Given the description of an element on the screen output the (x, y) to click on. 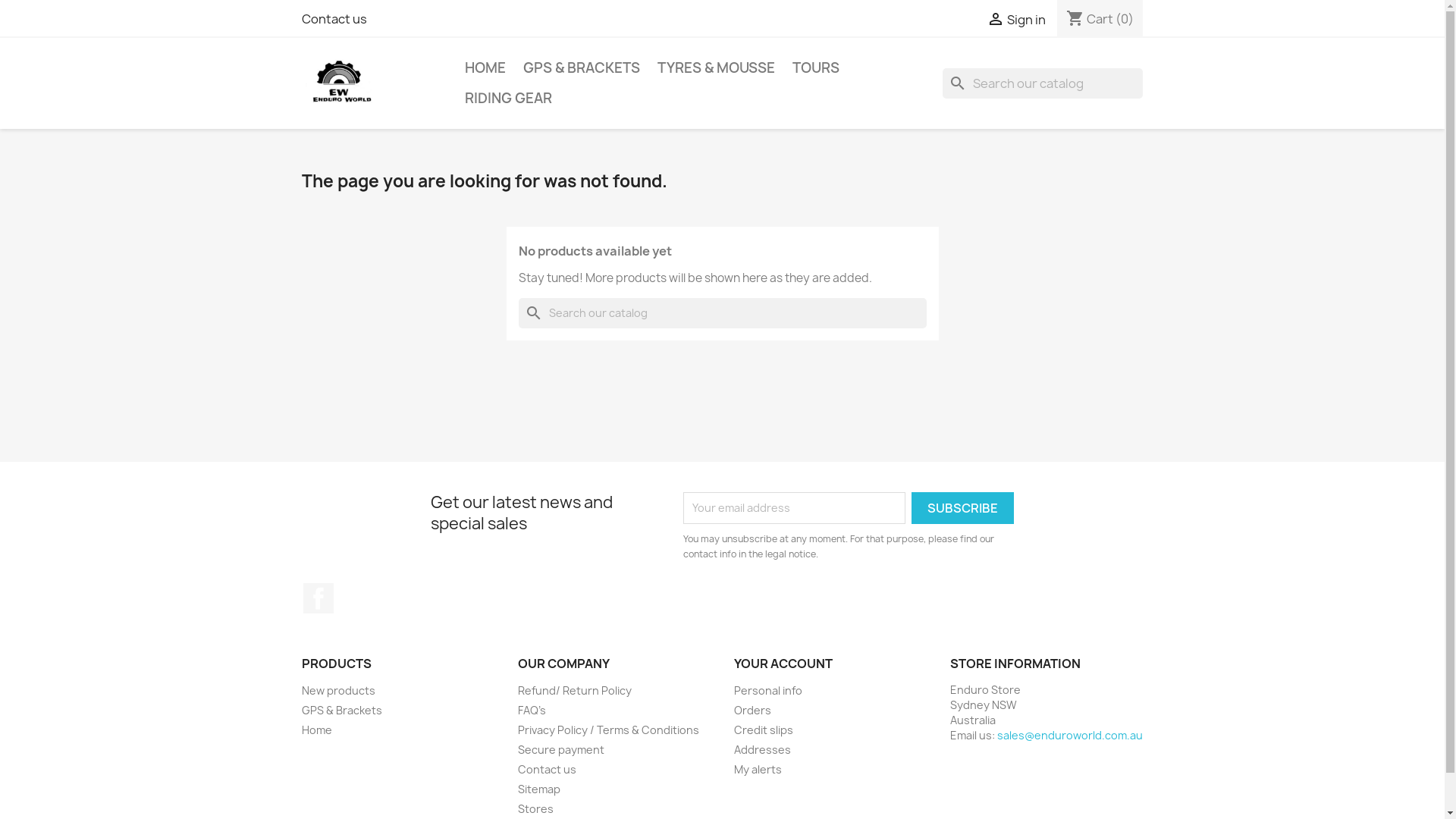
TYRES & MOUSSE Element type: text (715, 68)
Facebook Element type: text (318, 598)
Sitemap Element type: text (538, 788)
My alerts Element type: text (757, 769)
Contact us Element type: text (546, 769)
New products Element type: text (338, 690)
Secure payment Element type: text (560, 749)
RIDING GEAR Element type: text (507, 98)
YOUR ACCOUNT Element type: text (783, 663)
Home Element type: text (316, 729)
GPS & BRACKETS Element type: text (581, 68)
Addresses Element type: text (762, 749)
Contact us Element type: text (334, 18)
Refund/ Return Policy Element type: text (573, 690)
Subscribe Element type: text (962, 508)
TOURS Element type: text (815, 68)
HOME Element type: text (484, 68)
Stores Element type: text (534, 808)
sales@enduroworld.com.au Element type: text (1069, 735)
GPS & Brackets Element type: text (341, 709)
Orders Element type: text (752, 709)
Privacy Policy / Terms & Conditions Element type: text (607, 729)
Personal info Element type: text (768, 690)
Credit slips Element type: text (763, 729)
